Given the description of an element on the screen output the (x, y) to click on. 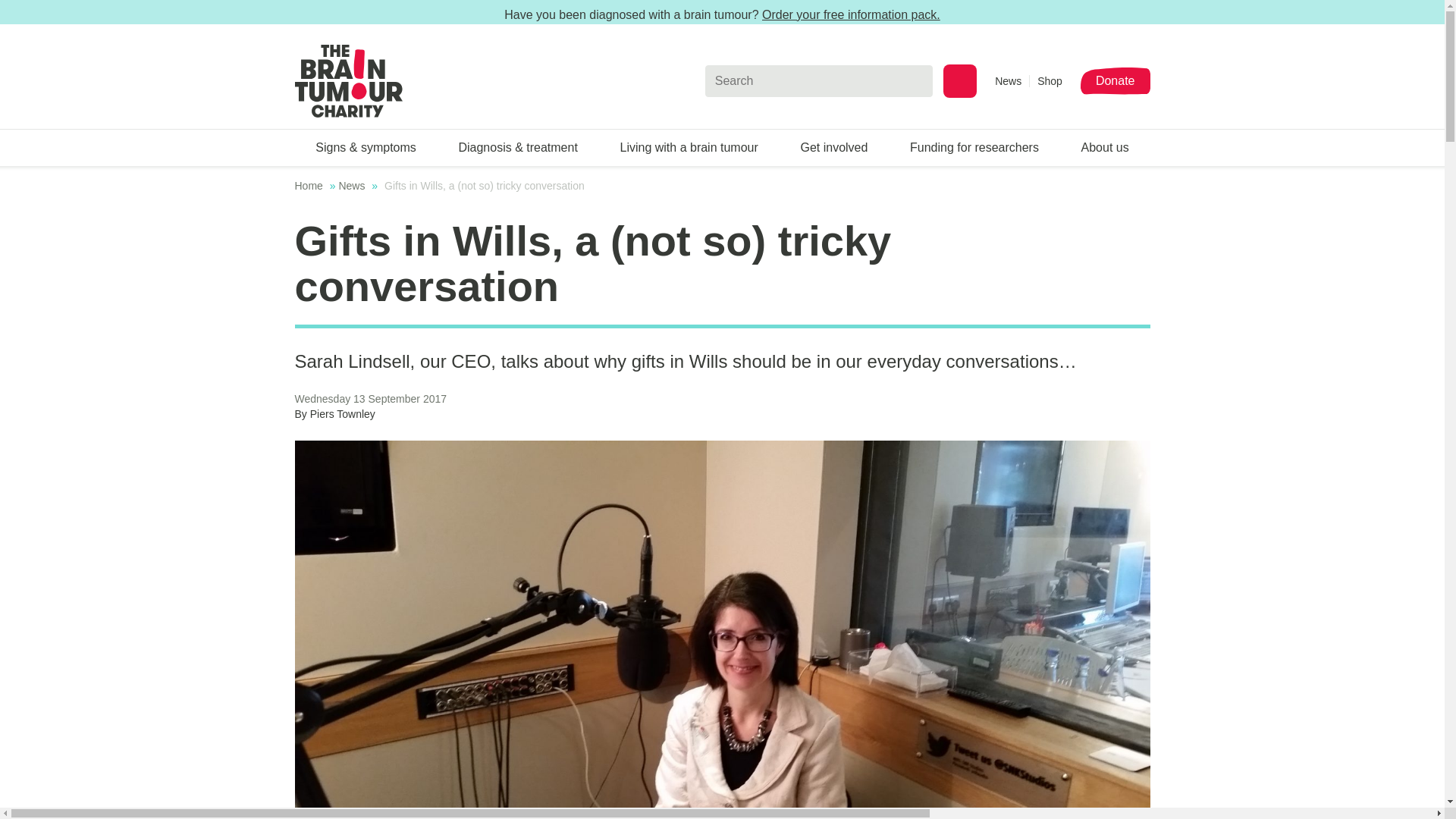
News (1011, 80)
Order your free information pack. (850, 14)
Shop (1049, 80)
Search for entered term (959, 80)
Donate (1115, 81)
